Given the description of an element on the screen output the (x, y) to click on. 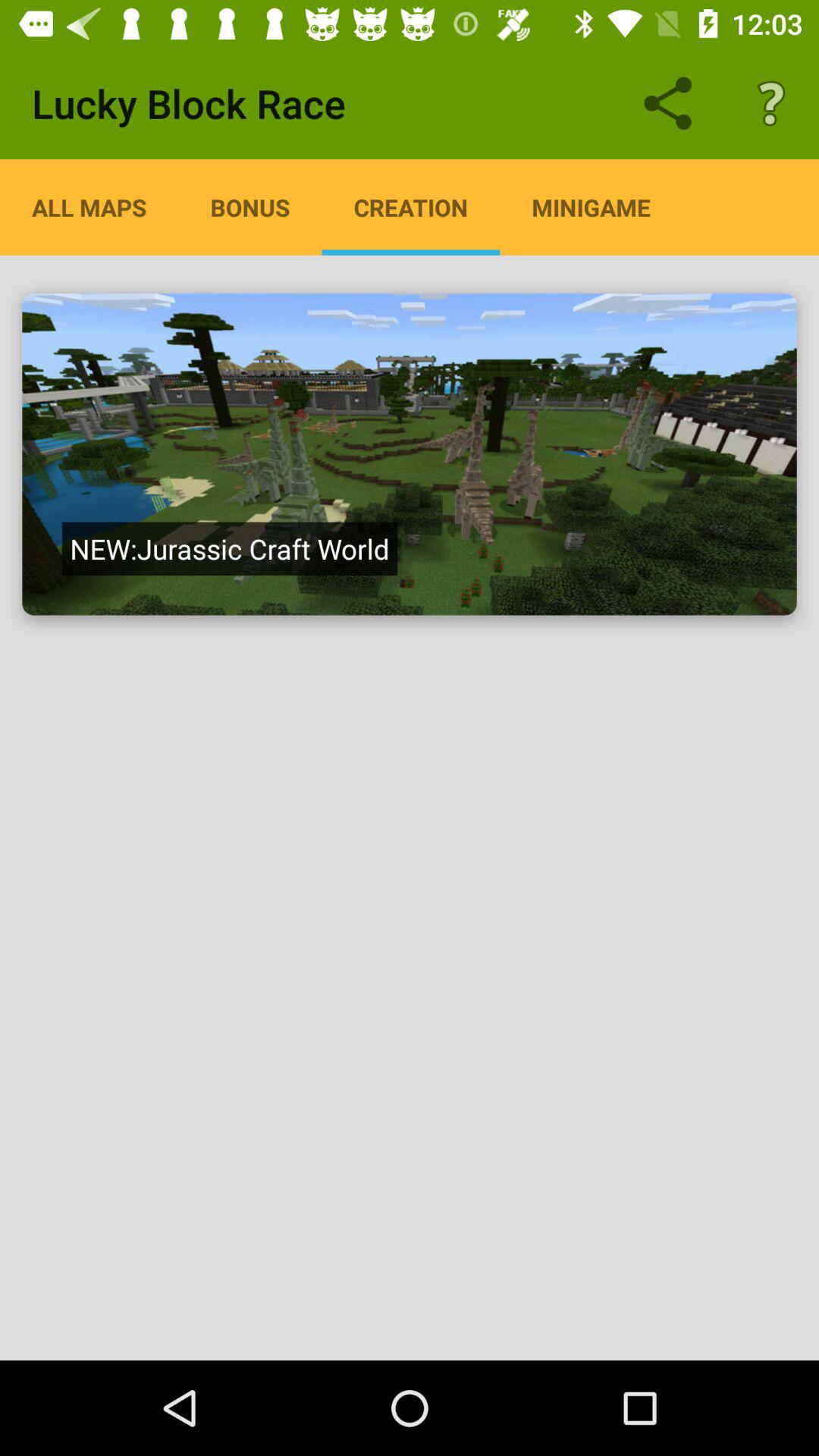
jurassic craft world map (409, 454)
